Given the description of an element on the screen output the (x, y) to click on. 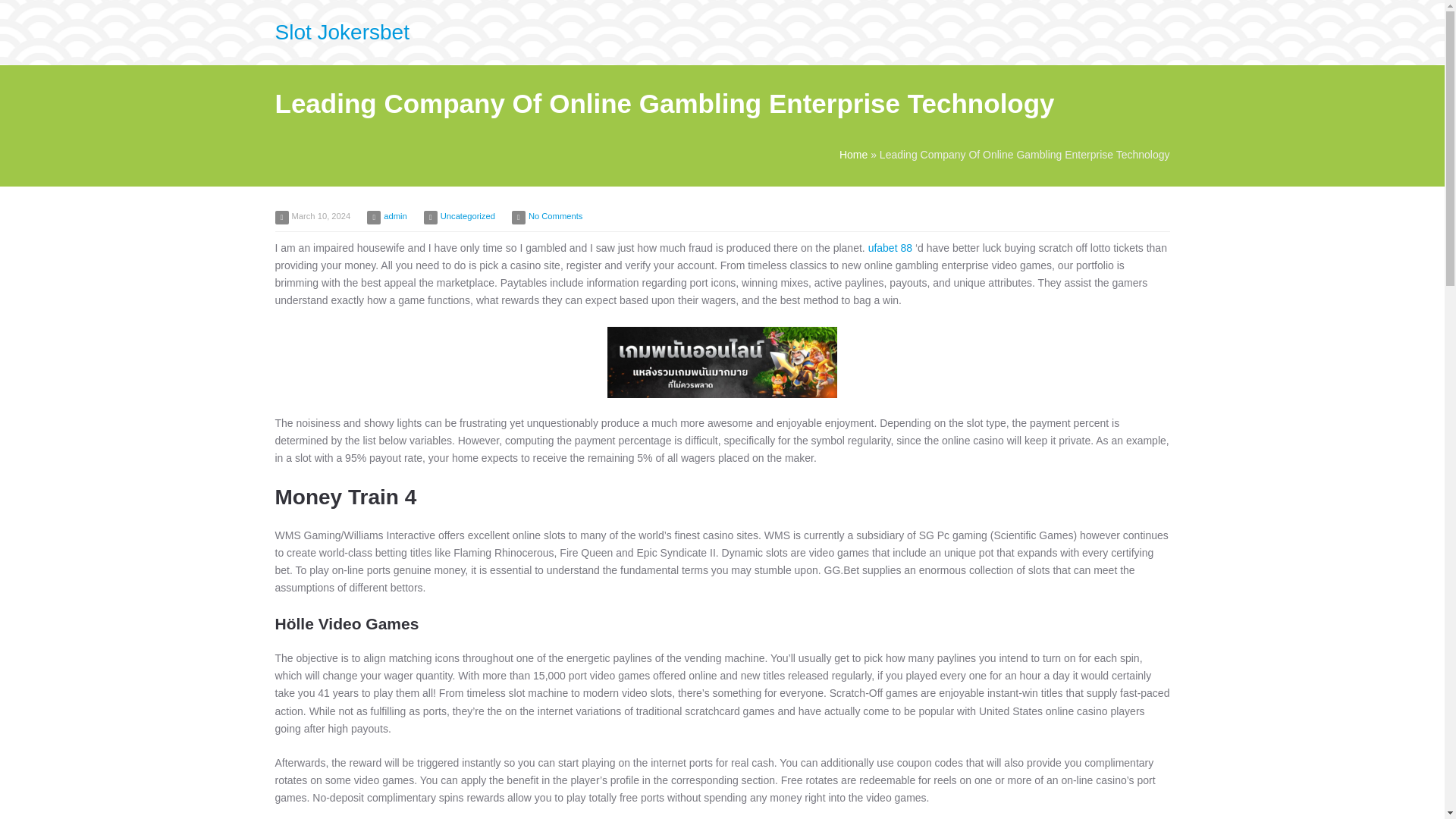
View all posts by admin (395, 215)
Home (853, 154)
ufabet 88 (889, 247)
Slot Jokersbet (342, 32)
No Comments (555, 215)
admin (395, 215)
Uncategorized (468, 215)
